Given the description of an element on the screen output the (x, y) to click on. 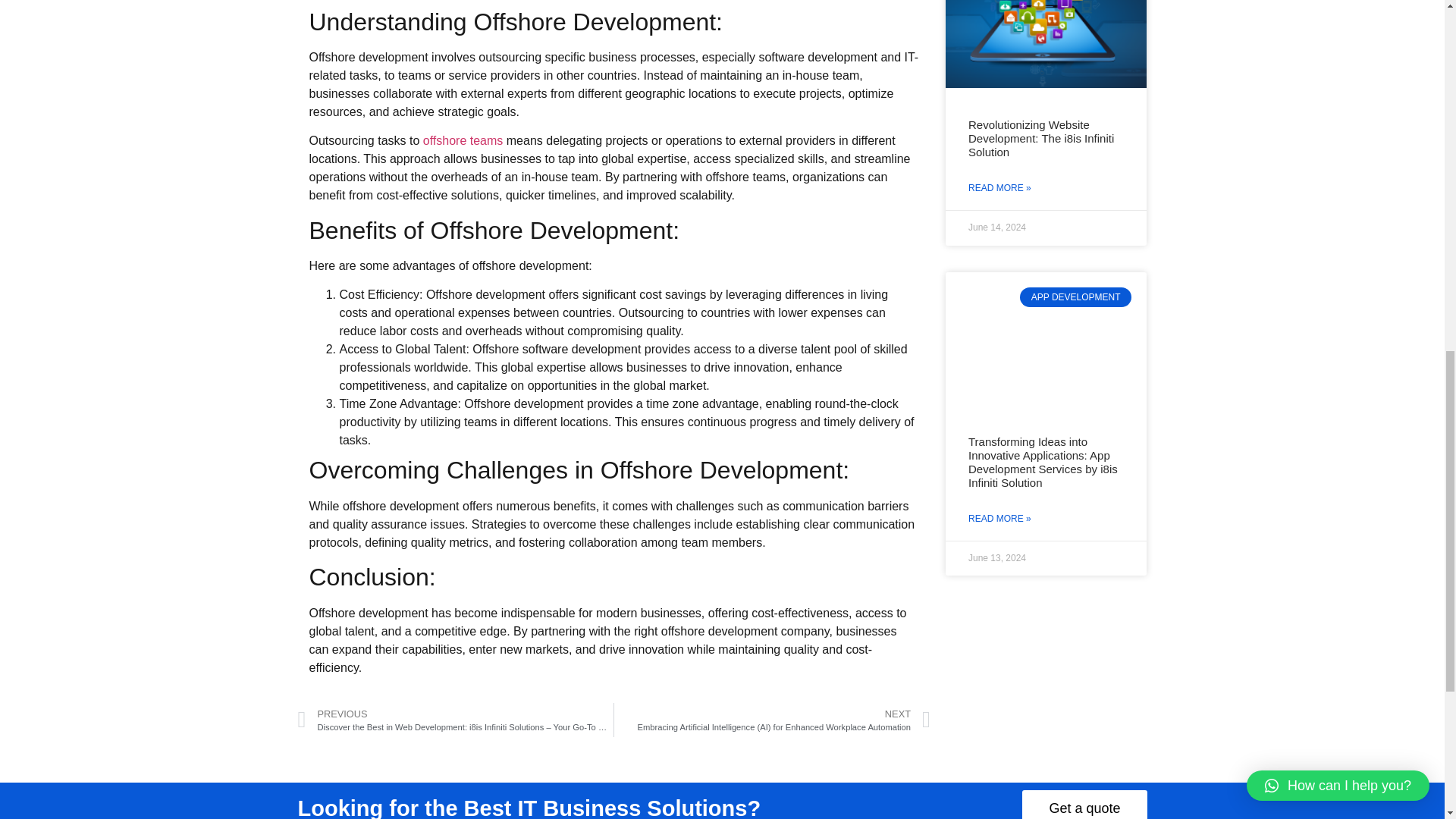
offshore teams (464, 140)
